Given the description of an element on the screen output the (x, y) to click on. 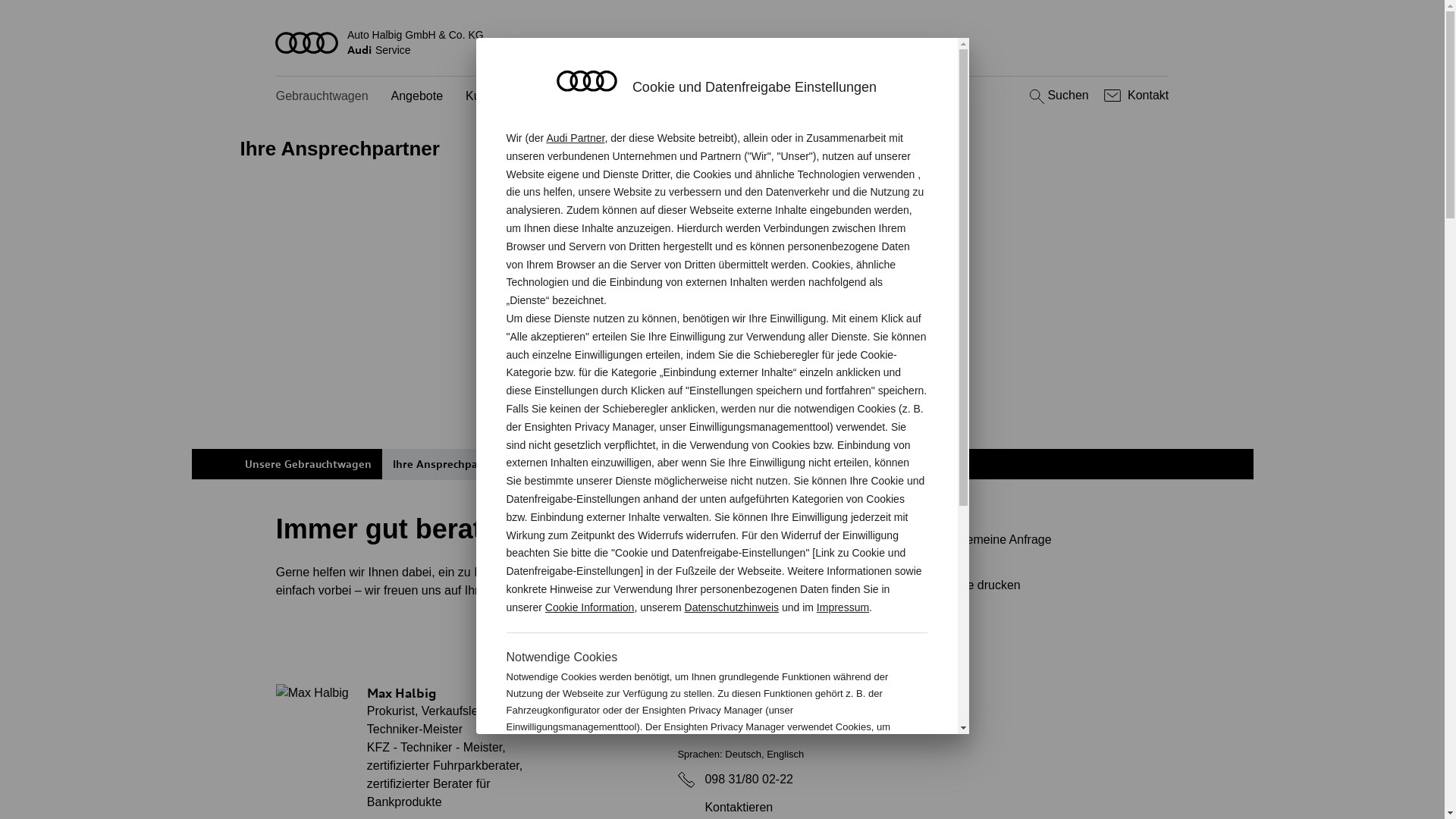
Kontakt Element type: text (1134, 95)
Frank Hetzner Element type: hover (624, 702)
Gebrauchtwagen Element type: text (322, 96)
Suchen Element type: text (1056, 95)
Kontaktieren Element type: text (724, 807)
Impressum Element type: text (842, 607)
Max Halbig Element type: hover (312, 693)
Unsere Gebrauchtwagen Element type: text (307, 463)
Kundenservice Element type: text (505, 96)
Ihre Ansprechpartner Element type: text (448, 463)
Auto Halbig GmbH & Co. KG
AudiService Element type: text (722, 42)
Angebote Element type: text (417, 96)
Audi Partner Element type: text (575, 137)
Cookie Information Element type: text (847, 776)
Cookie Information Element type: text (589, 607)
Allgemeine Anfrage Element type: text (1038, 539)
098 31/80 02-22 Element type: text (748, 779)
Seite drucken Element type: text (1044, 585)
Datenschutzhinweis Element type: text (731, 607)
